Given the description of an element on the screen output the (x, y) to click on. 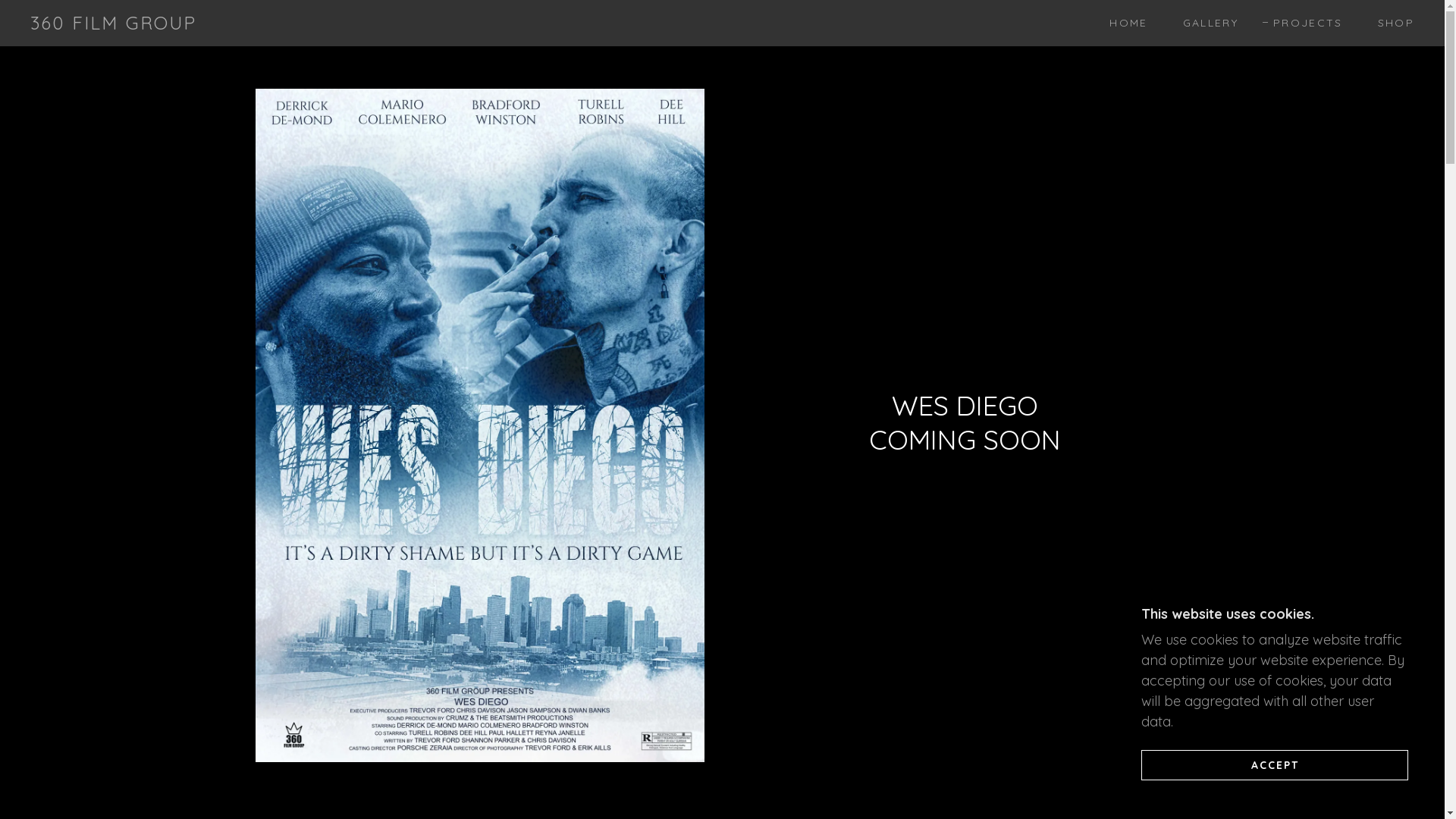
HOME Element type: text (1122, 22)
360 FILM GROUP Element type: text (113, 24)
SHOP Element type: text (1390, 22)
ACCEPT Element type: text (1274, 764)
GALLERY Element type: text (1204, 22)
PROJECTS Element type: text (1302, 22)
